Given the description of an element on the screen output the (x, y) to click on. 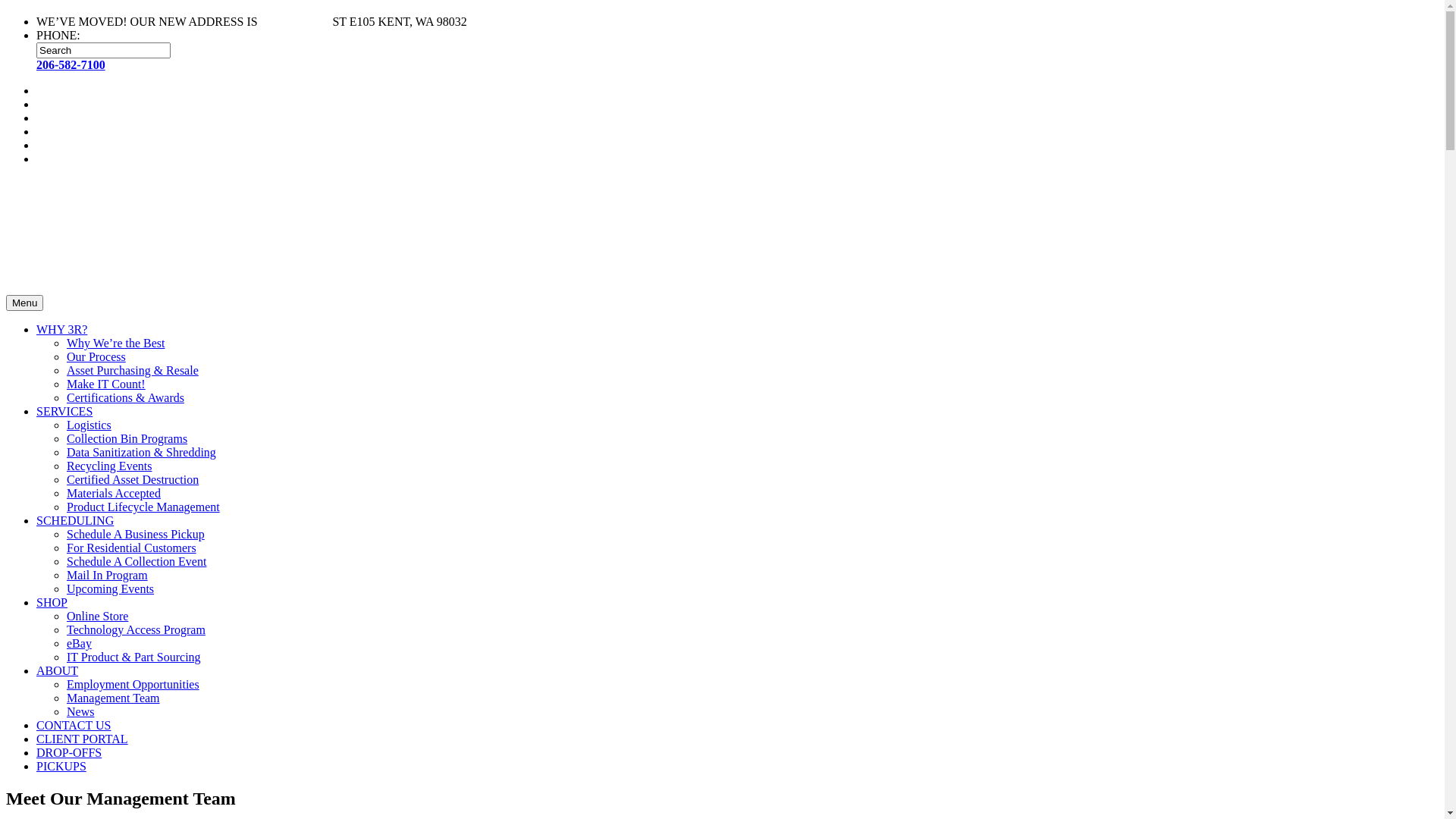
Mail In Program Element type: text (106, 574)
Certifications & Awards Element type: text (125, 397)
Upcoming Events Element type: text (109, 588)
Technology Access Program Element type: text (135, 629)
Online Store Element type: text (97, 615)
Recycling Events Element type: text (108, 465)
SHOP Element type: text (51, 602)
Employment Opportunities Element type: text (132, 683)
SERVICES Element type: text (64, 410)
Asset Purchasing & Resale Element type: text (132, 370)
Collection Bin Programs Element type: text (126, 438)
Product Lifecycle Management Element type: text (142, 506)
WHY 3R? Element type: text (61, 329)
Schedule A Collection Event Element type: text (136, 561)
Materials Accepted Element type: text (113, 492)
News Element type: text (80, 711)
206-582-7100 Element type: text (70, 64)
Type and press Enter to search Element type: hover (737, 50)
8002 S 208 Element type: text (288, 21)
SCHEDULING Element type: text (74, 520)
IT Product & Part Sourcing Element type: text (133, 656)
Logistics Element type: text (88, 424)
Data Sanitization & Shredding Element type: text (141, 451)
CLIENT PORTAL Element type: text (82, 738)
Make IT Count! Element type: text (105, 383)
Schedule A Business Pickup Element type: text (135, 533)
ABOUT Element type: text (57, 670)
Menu Element type: text (24, 302)
Management Team Element type: text (113, 697)
Certified Asset Destruction Element type: text (132, 479)
PICKUPS Element type: text (61, 765)
CONTACT US Element type: text (73, 724)
Our Process Element type: text (95, 356)
For Residential Customers Element type: text (131, 547)
eBay Element type: text (78, 643)
DROP-OFFS Element type: text (68, 752)
